Given the description of an element on the screen output the (x, y) to click on. 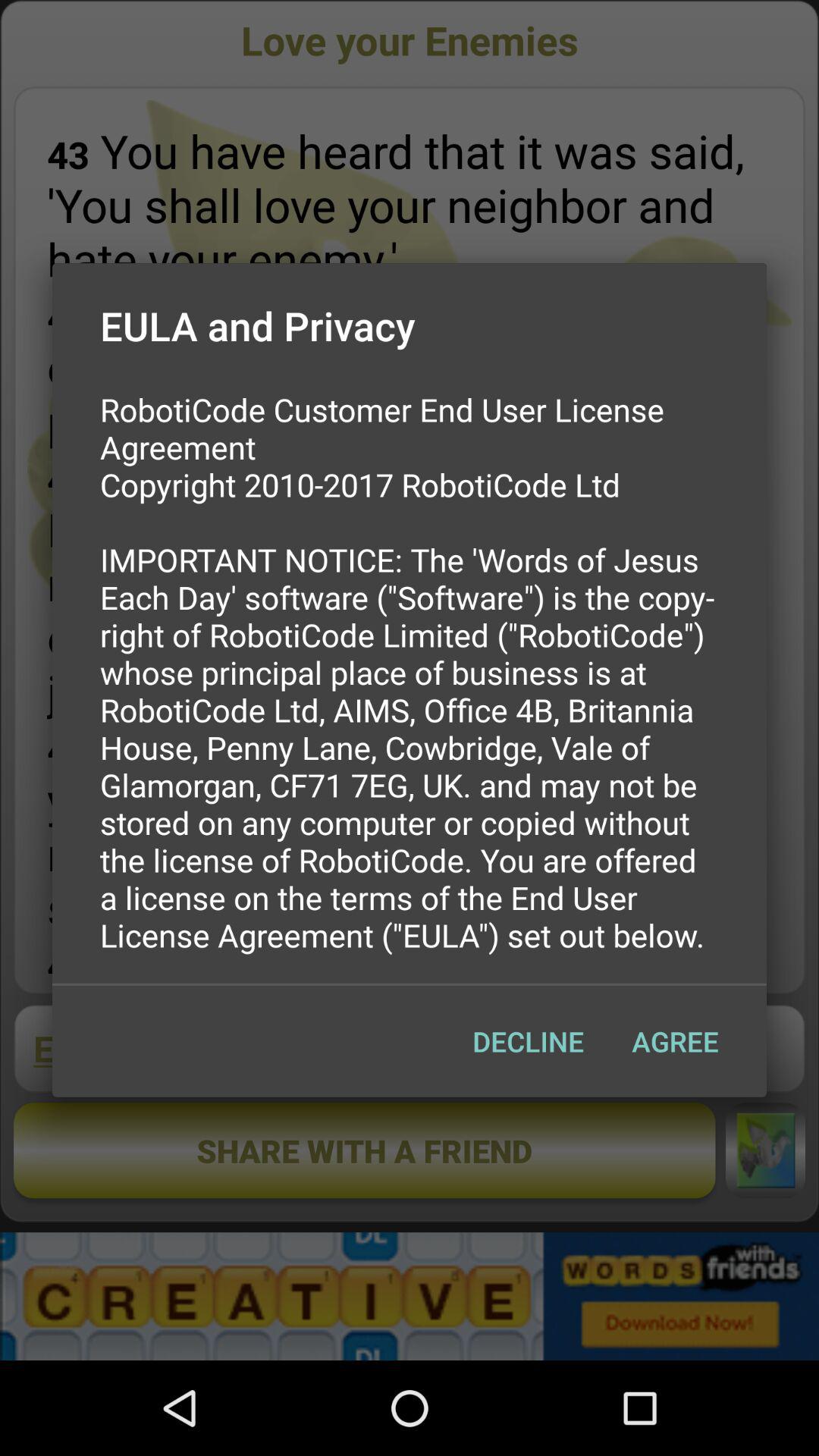
tap icon next to decline icon (674, 1041)
